Given the description of an element on the screen output the (x, y) to click on. 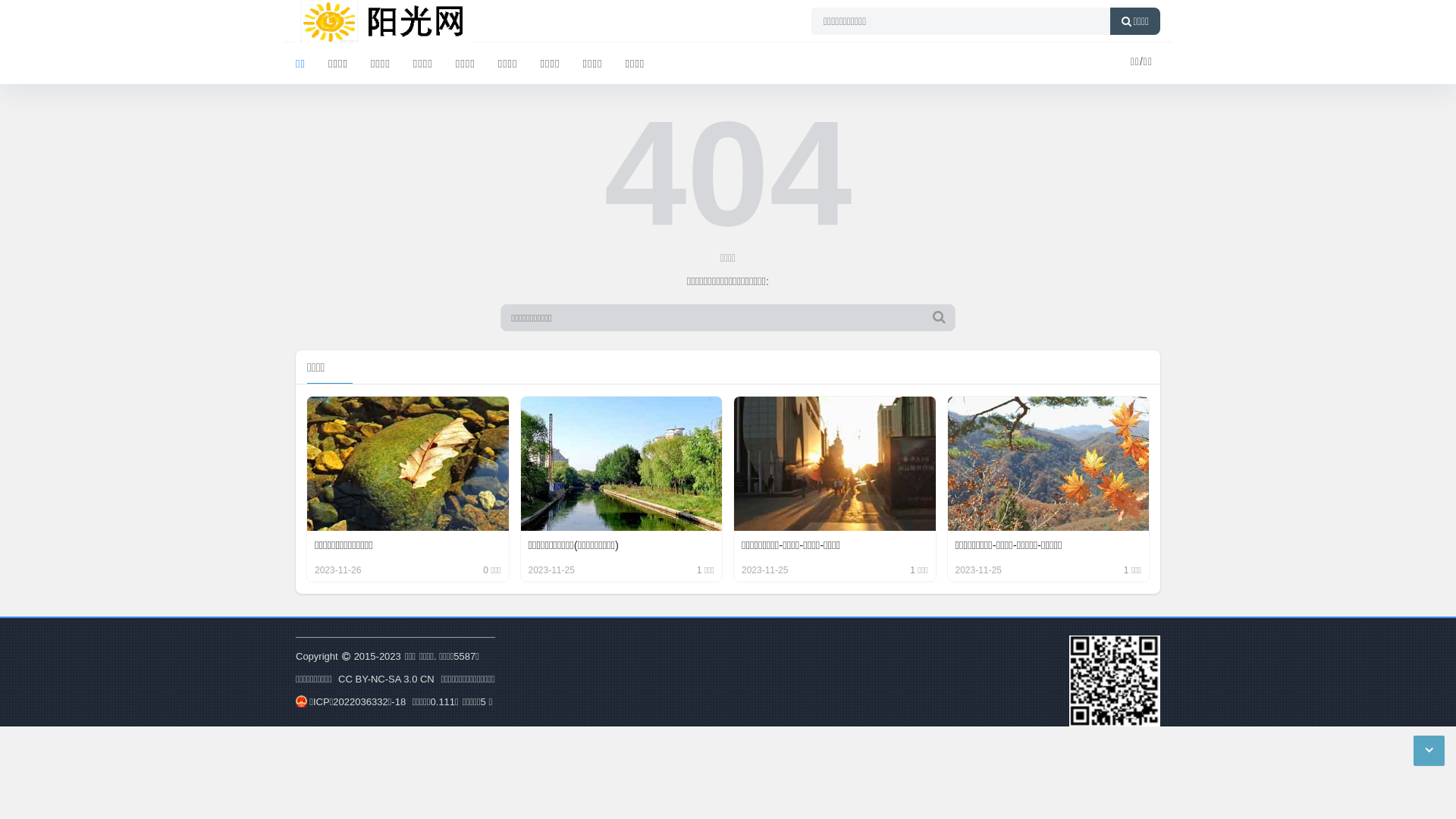
CC BY-NC-SA 3.0 CN Element type: text (386, 678)
